Given the description of an element on the screen output the (x, y) to click on. 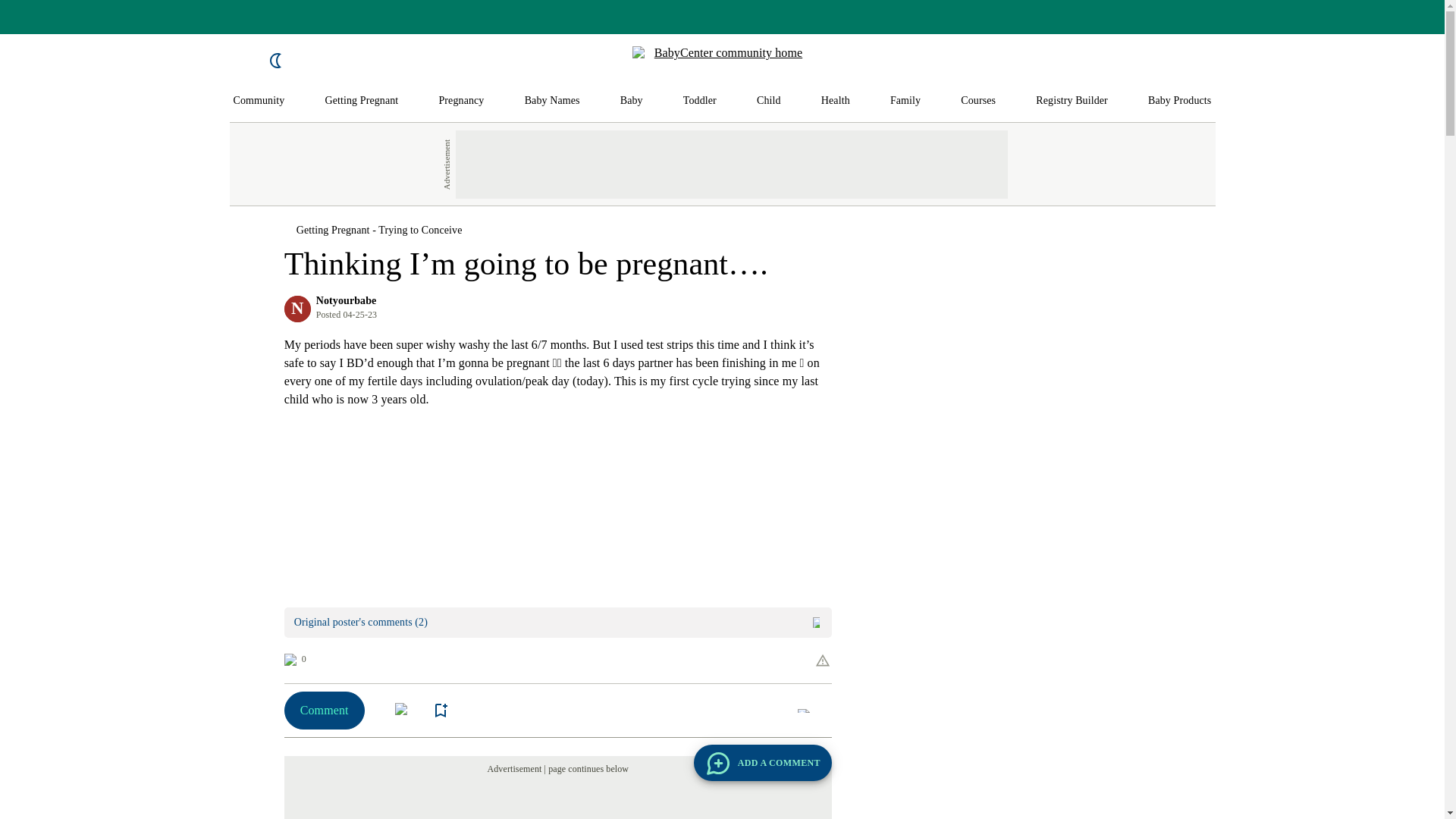
Health (835, 101)
Community (258, 101)
Registry Builder (1071, 101)
Baby Names (551, 101)
Pregnancy (460, 101)
Family (904, 101)
Toddler (699, 101)
Child (768, 101)
Baby (631, 101)
Courses (977, 101)
